Given the description of an element on the screen output the (x, y) to click on. 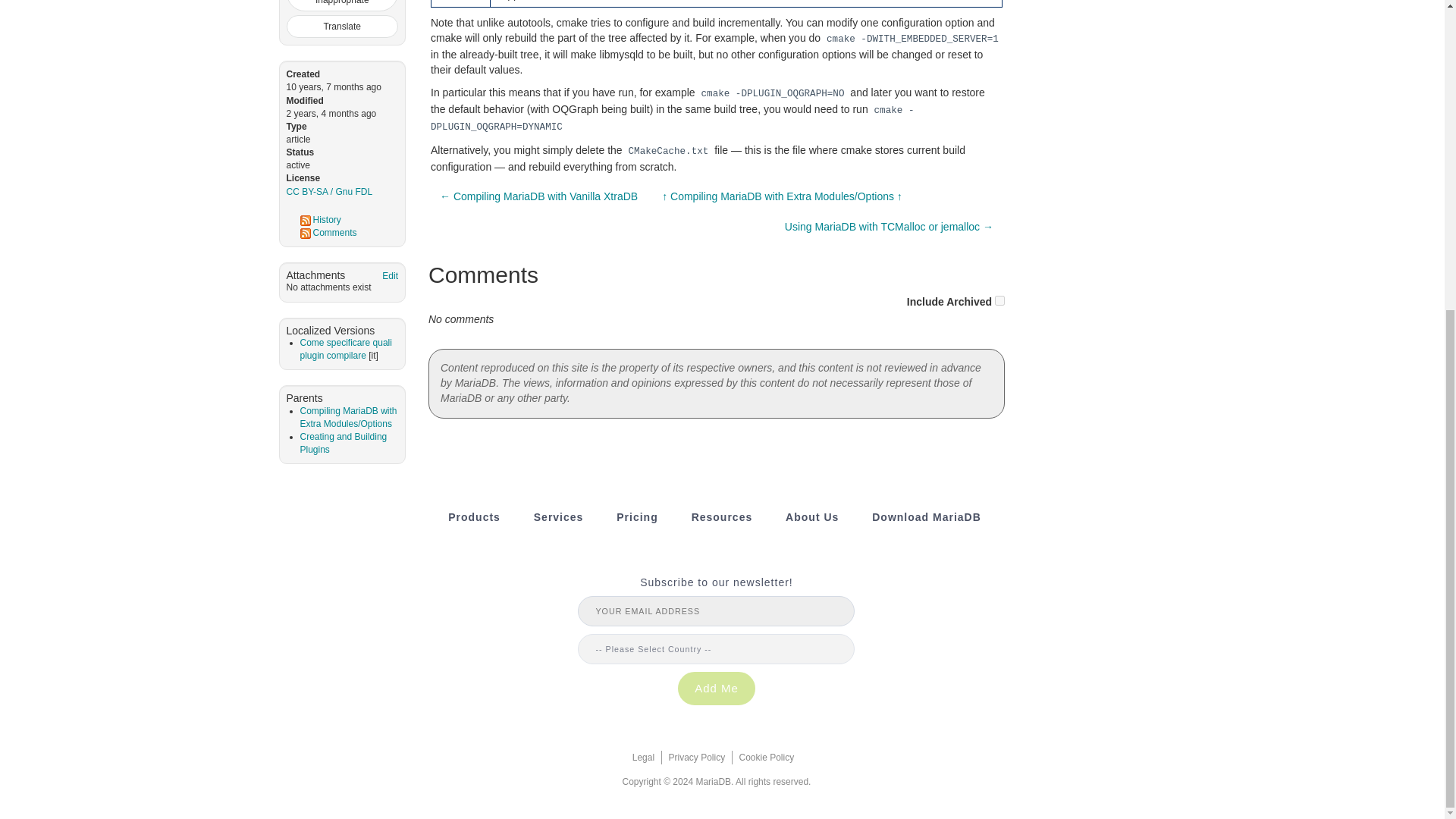
2022-03-08 10:37 (331, 113)
Translate (342, 26)
1 (999, 300)
Pricing (636, 517)
2013-12-02 17:21 (333, 86)
Services (558, 517)
Products (474, 517)
Resources (721, 517)
